Given the description of an element on the screen output the (x, y) to click on. 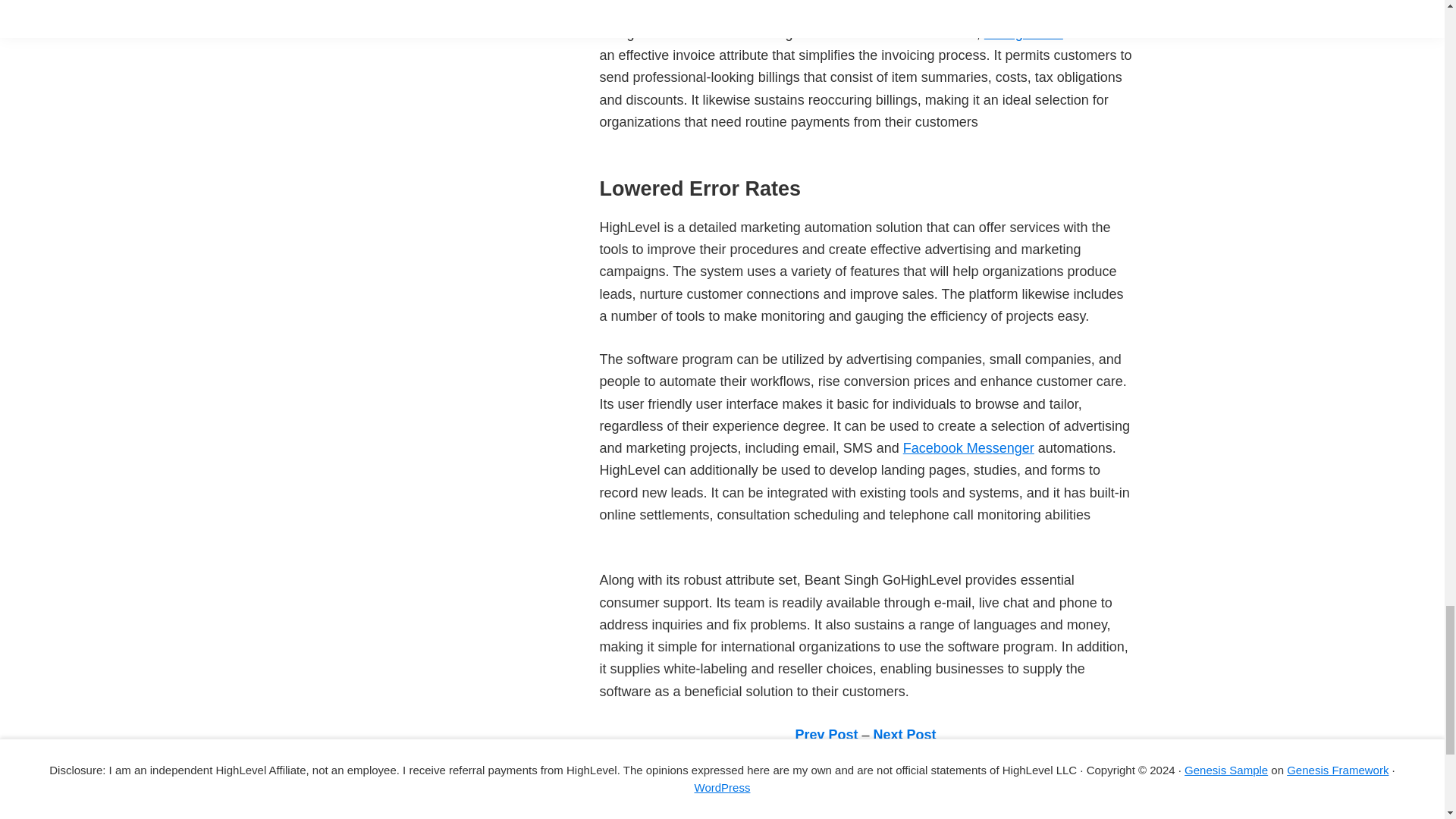
GoHighLevel (1023, 32)
Prev Post (825, 734)
Next Post (904, 734)
Facebook Messenger (967, 447)
GoHighLevel Down (657, 813)
GoHighLevel Down (657, 813)
